Given the description of an element on the screen output the (x, y) to click on. 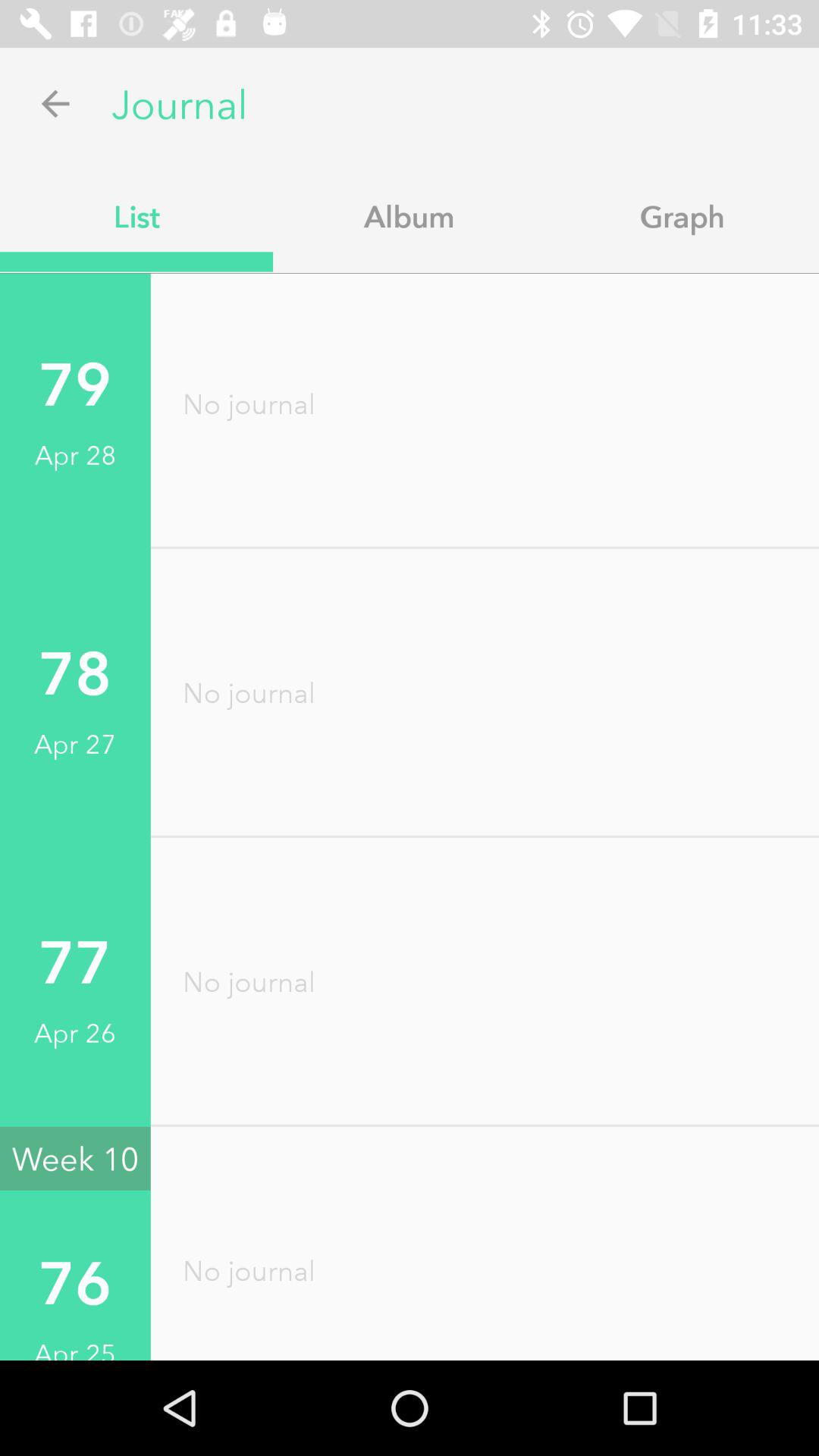
turn off the app to the right of list item (409, 216)
